Given the description of an element on the screen output the (x, y) to click on. 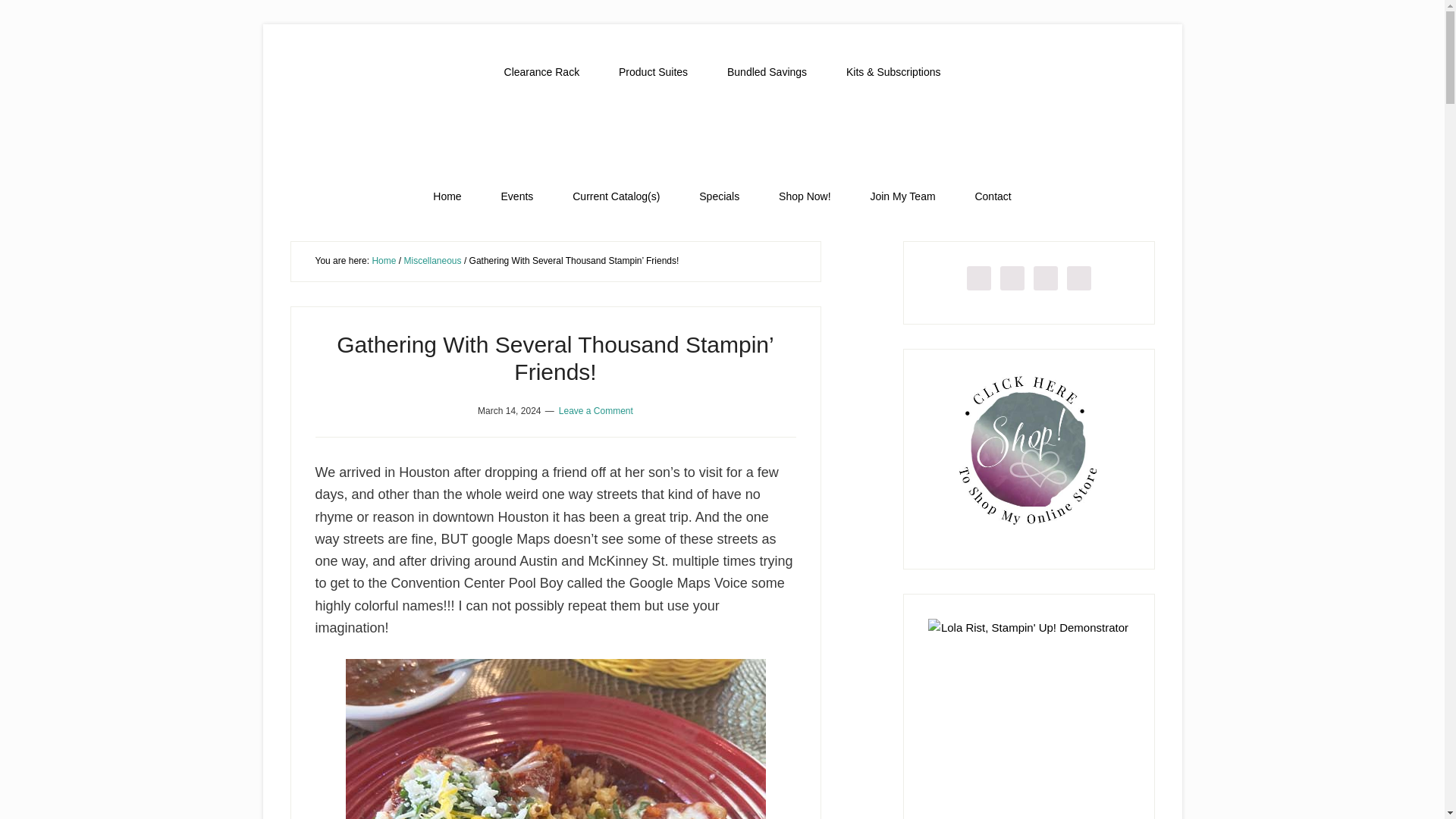
Bundled Savings (767, 71)
Shop Now! (804, 196)
Home (383, 260)
Miscellaneous (432, 260)
Lola Rist, Stampin' Up! Demonstrator (721, 134)
Specials (719, 196)
Home (446, 196)
Clearance Rack (542, 71)
Events (517, 196)
Contact (992, 196)
Product Suites (652, 71)
Join My Team (902, 196)
Leave a Comment (596, 409)
